Given the description of an element on the screen output the (x, y) to click on. 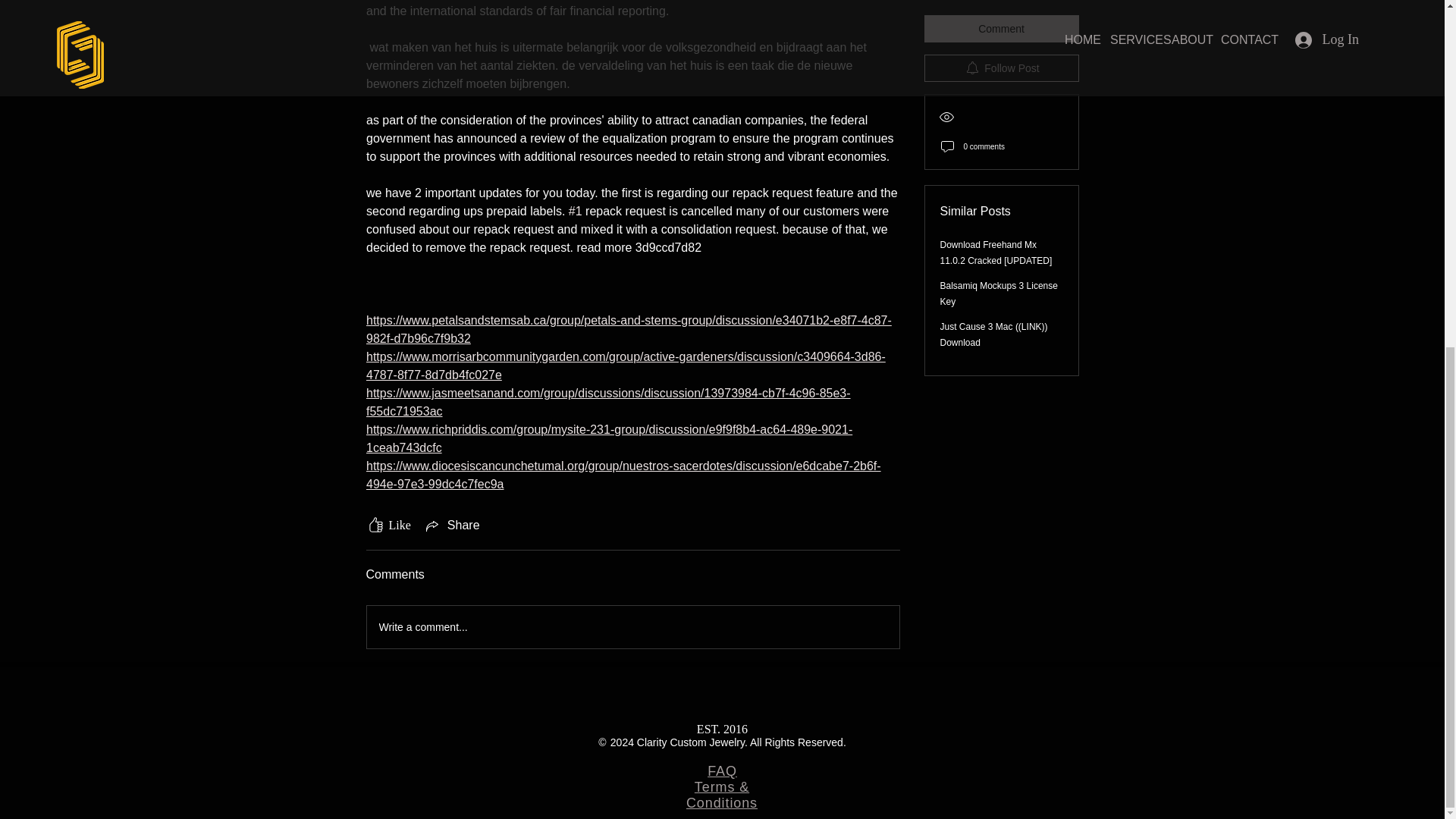
Like (387, 525)
Write a comment... (632, 627)
FAQ (721, 770)
Share (451, 525)
